Given the description of an element on the screen output the (x, y) to click on. 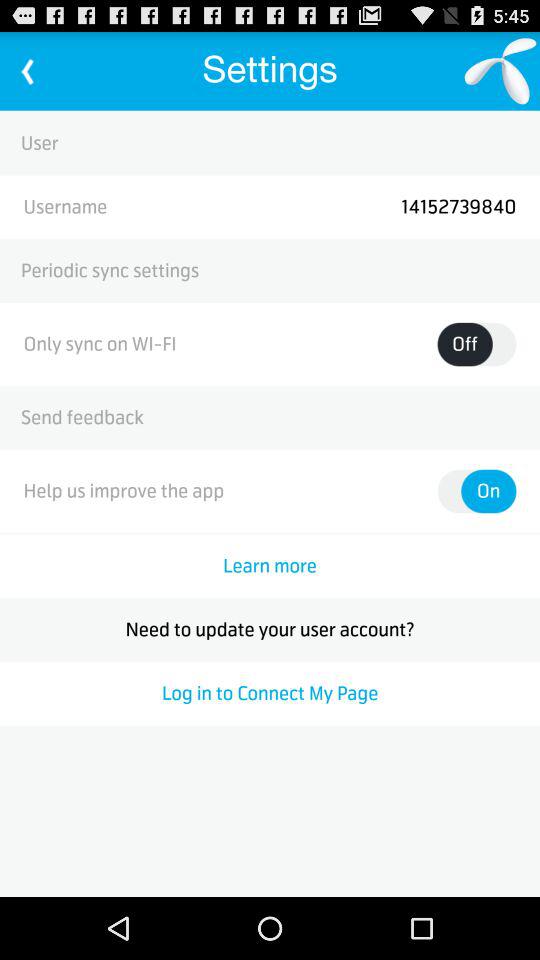
turn on the log in to icon (270, 693)
